Given the description of an element on the screen output the (x, y) to click on. 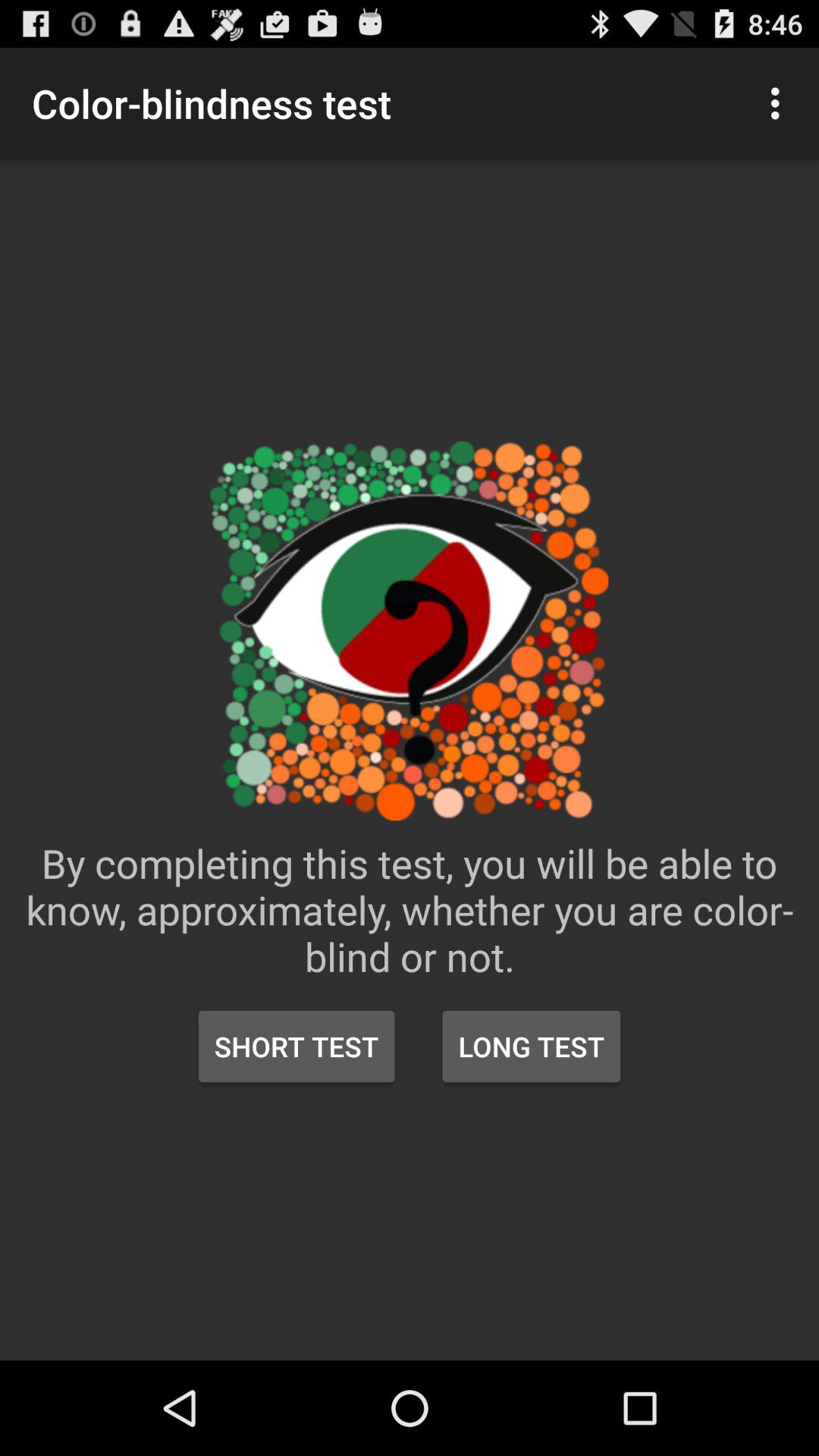
swipe until the long test (531, 1046)
